Given the description of an element on the screen output the (x, y) to click on. 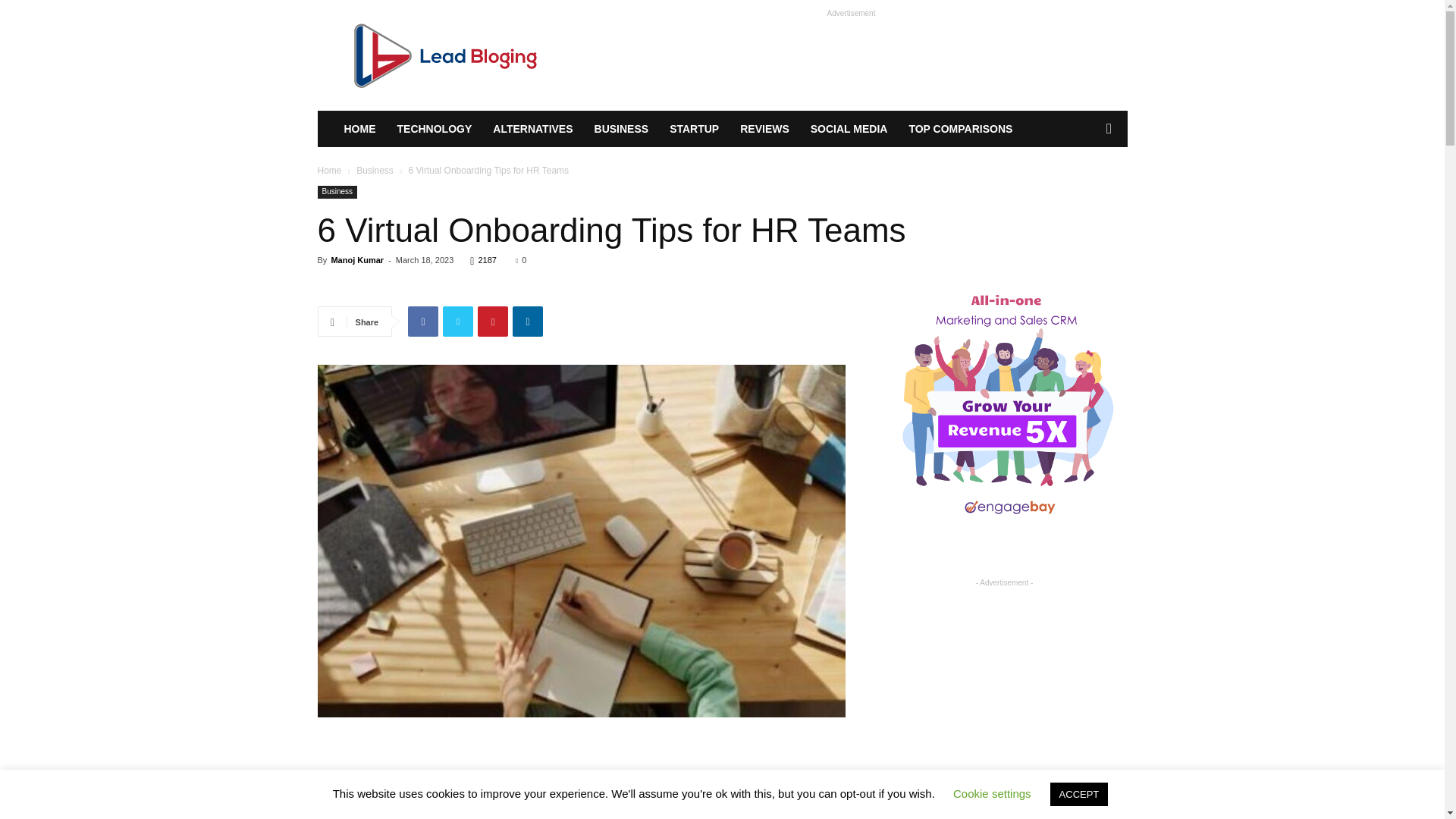
Manoj Kumar (357, 259)
Advertisement (580, 759)
STARTUP (694, 128)
TECHNOLOGY (435, 128)
BUSINESS (621, 128)
TOP COMPARISONS (960, 128)
ALTERNATIVES (532, 128)
Search (1085, 189)
REVIEWS (764, 128)
0 (520, 259)
HOME (360, 128)
View all posts in Business (374, 170)
Advertisement (850, 55)
SOCIAL MEDIA (848, 128)
